Given the description of an element on the screen output the (x, y) to click on. 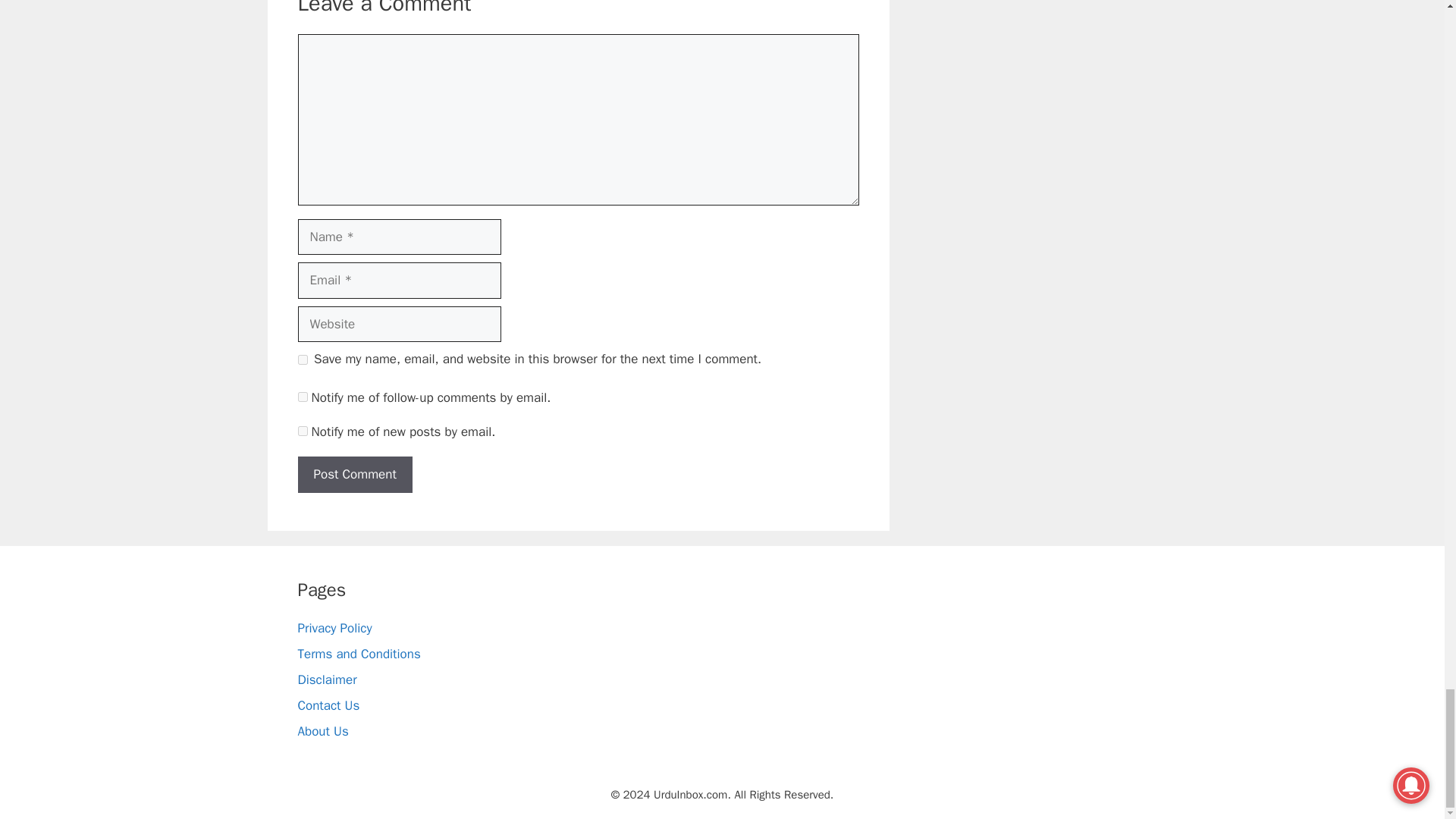
Post Comment (354, 474)
subscribe (302, 397)
yes (302, 359)
subscribe (302, 430)
